Given the description of an element on the screen output the (x, y) to click on. 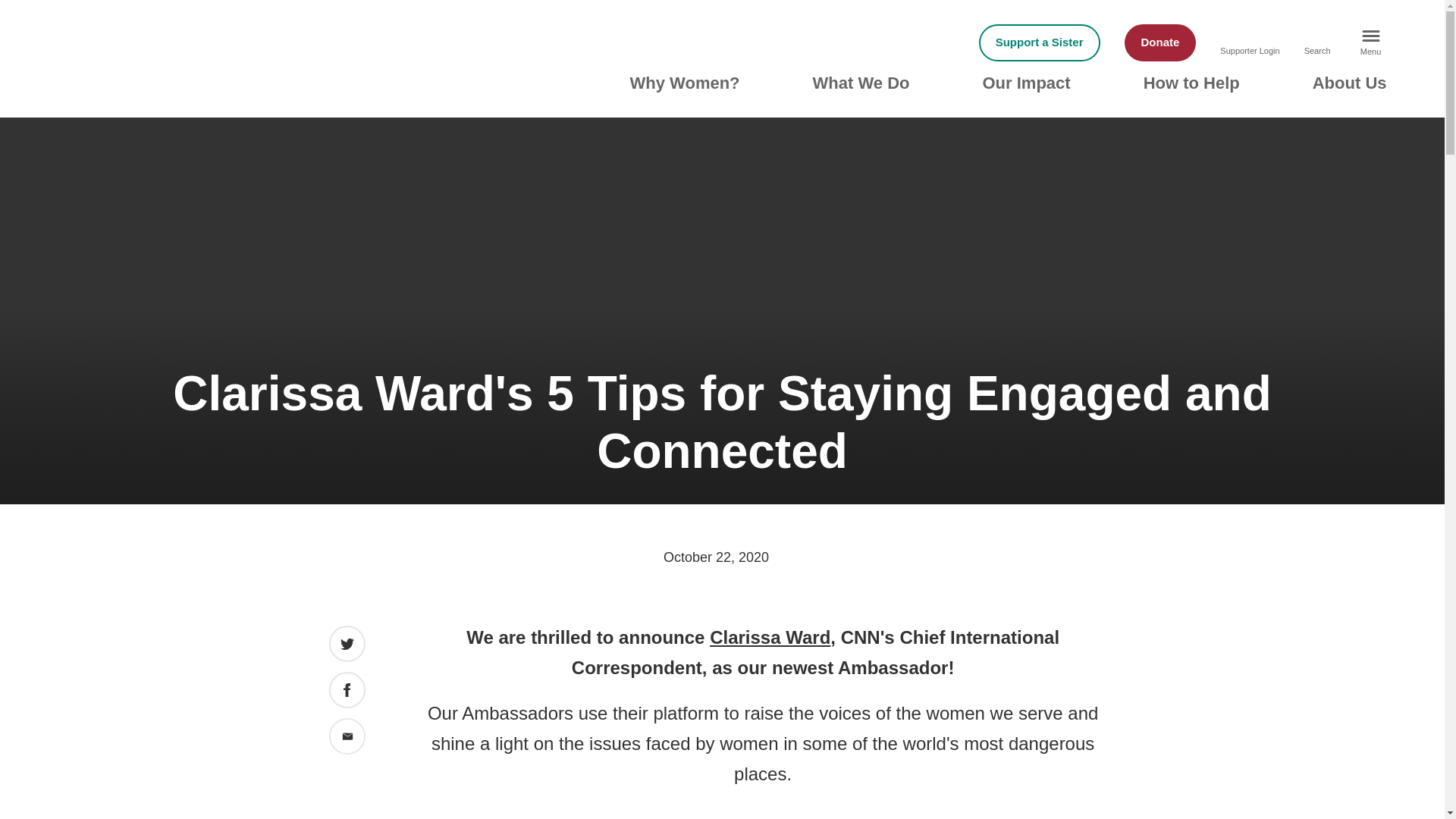
Home (199, 69)
Support a Sister (1039, 42)
What We Do (861, 82)
Why Women? (685, 82)
Menu (1370, 43)
Donate (1160, 42)
Why Women? (685, 82)
What We Do (861, 82)
Donate (1160, 42)
